Given the description of an element on the screen output the (x, y) to click on. 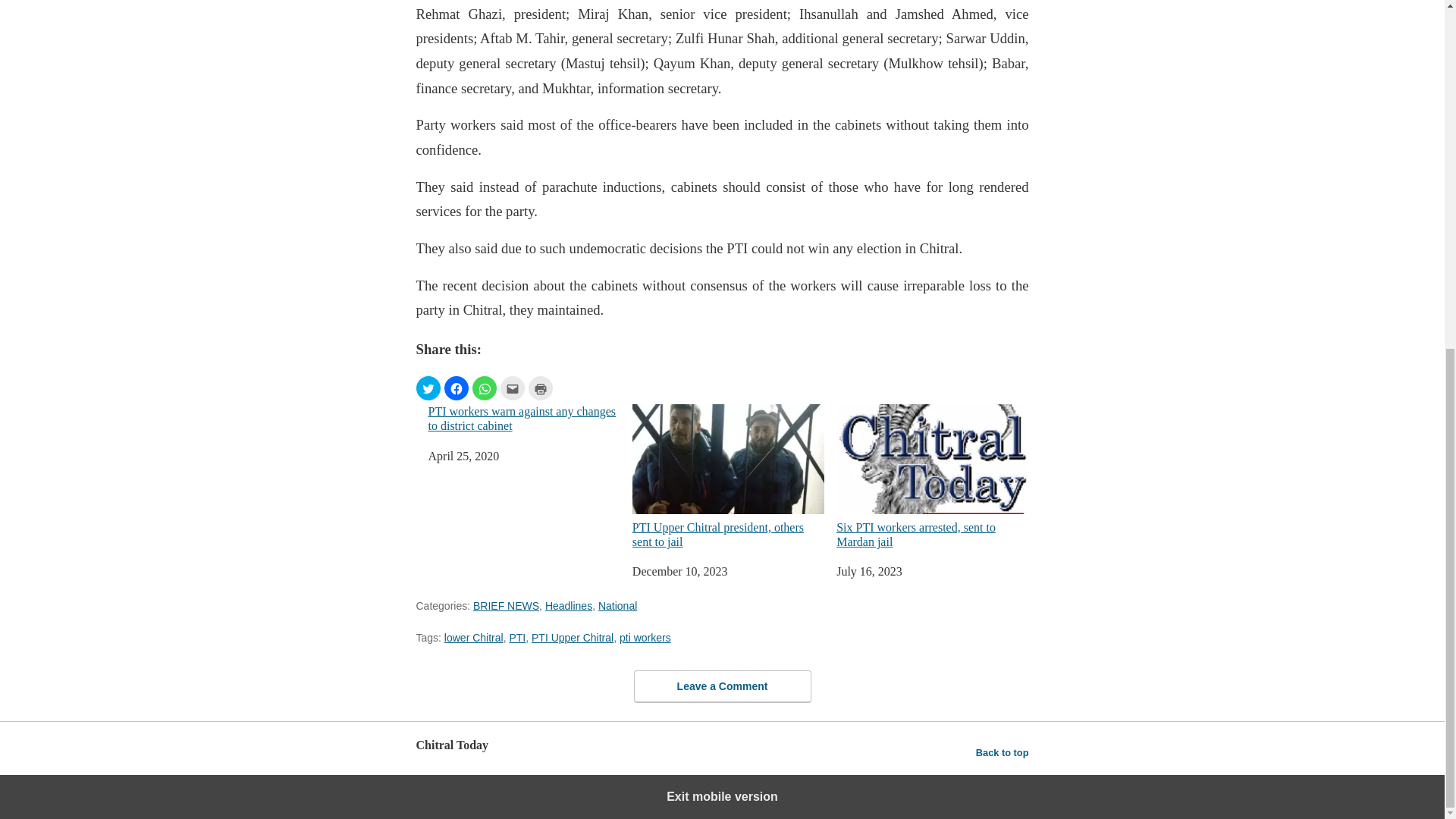
Click to share on Email (512, 387)
Click to share on Twitter (426, 387)
Click to share on Facebook (456, 387)
pti workers (645, 637)
National (617, 605)
Print (539, 387)
PTI workers warn against any changes to district cabinet (524, 418)
lower Chitral (473, 637)
PTI (516, 637)
Back to top (1002, 752)
Six PTI workers arrested, sent to Mardan jail (931, 476)
BRIEF NEWS (505, 605)
Click to share on WhatsApp (483, 387)
Headlines (568, 605)
PTI Upper Chitral (571, 637)
